Given the description of an element on the screen output the (x, y) to click on. 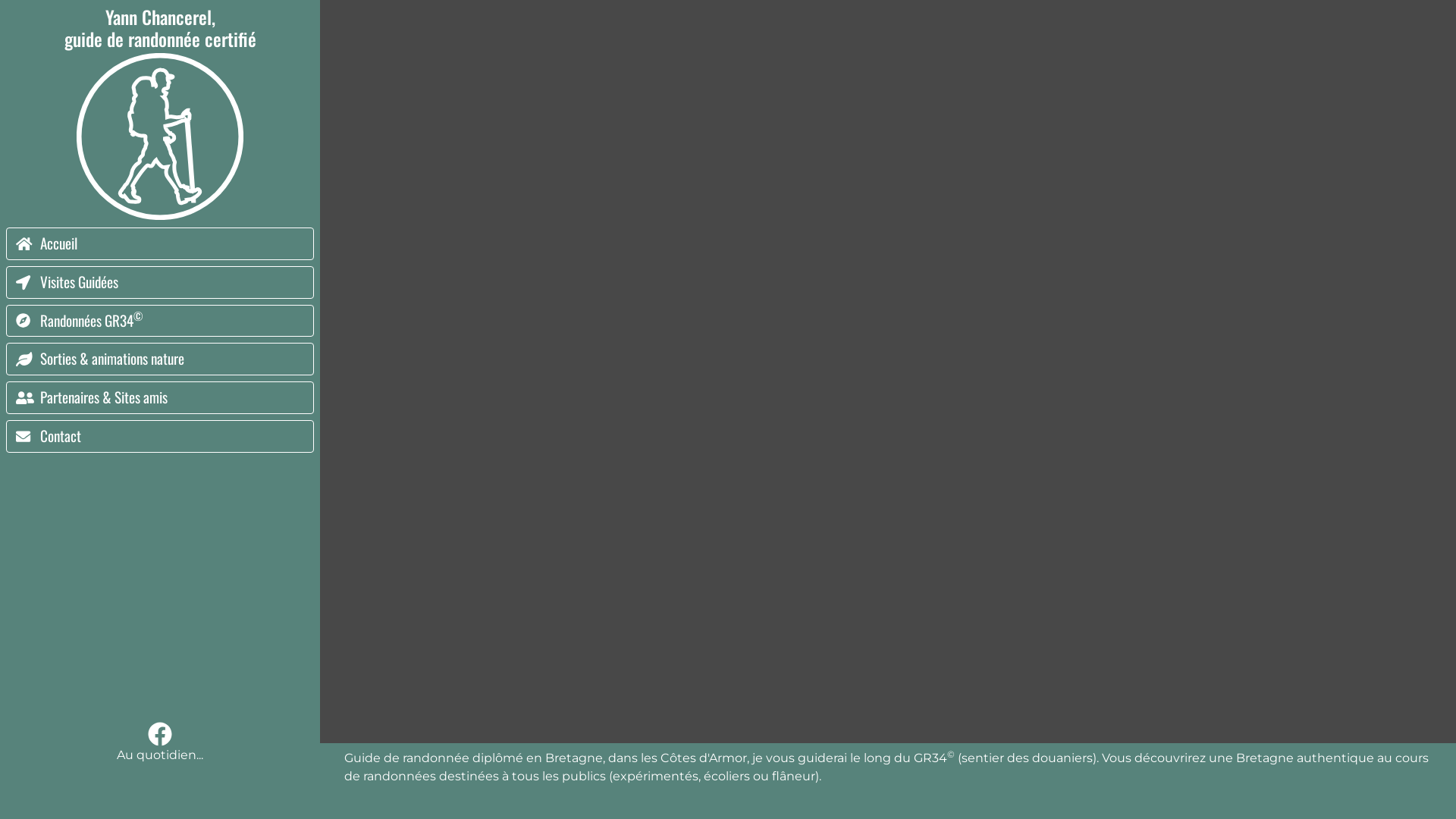
Sorties & animations nature Element type: text (159, 358)
Partenaires & Sites amis Element type: text (159, 397)
Contact Element type: text (159, 436)
Accueil Element type: text (159, 243)
Au quotidien... Element type: text (160, 742)
